Given the description of an element on the screen output the (x, y) to click on. 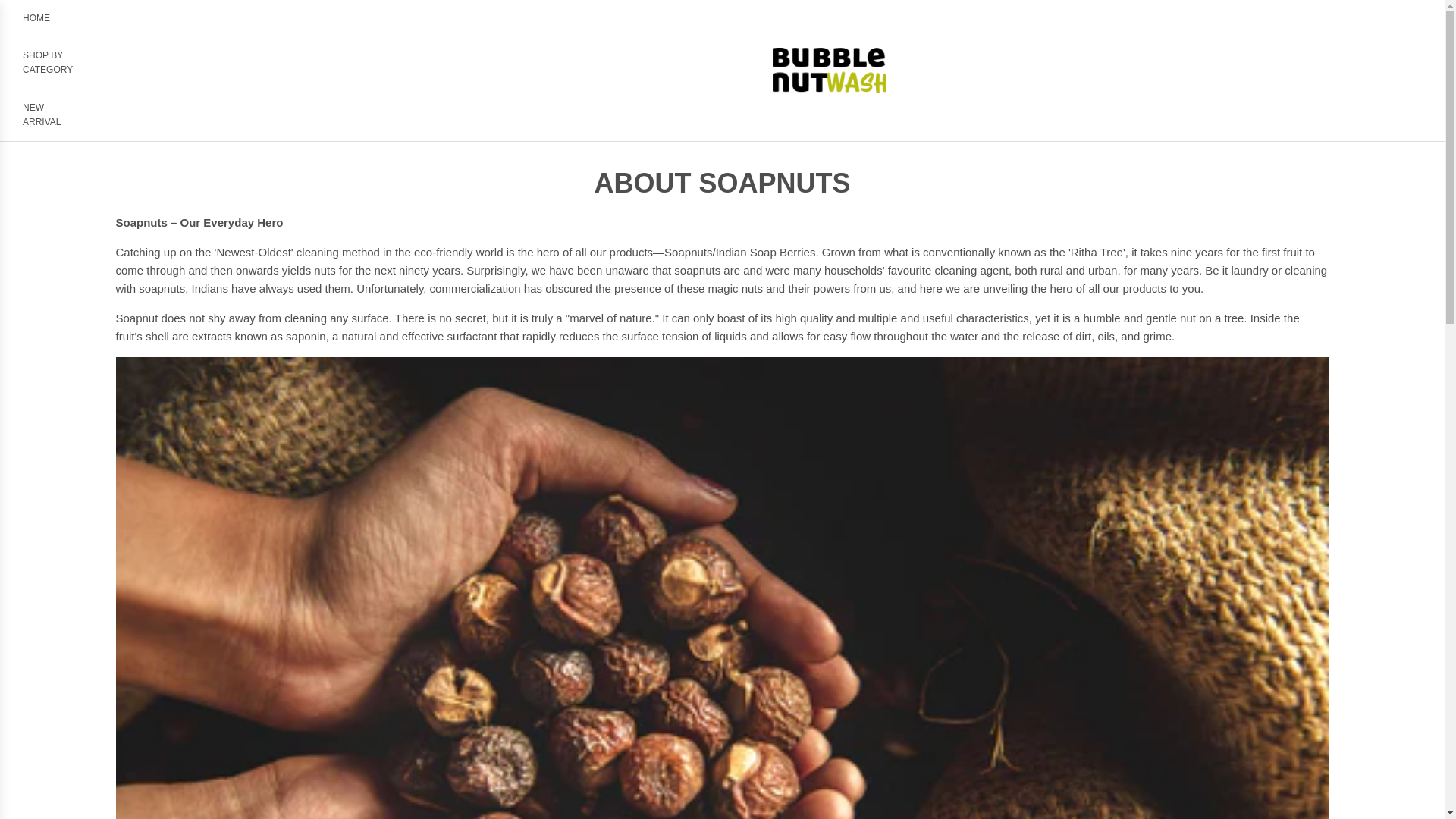
NEW ARRIVAL (47, 114)
HOME (36, 18)
SHOP BY CATEGORY (47, 62)
